Given the description of an element on the screen output the (x, y) to click on. 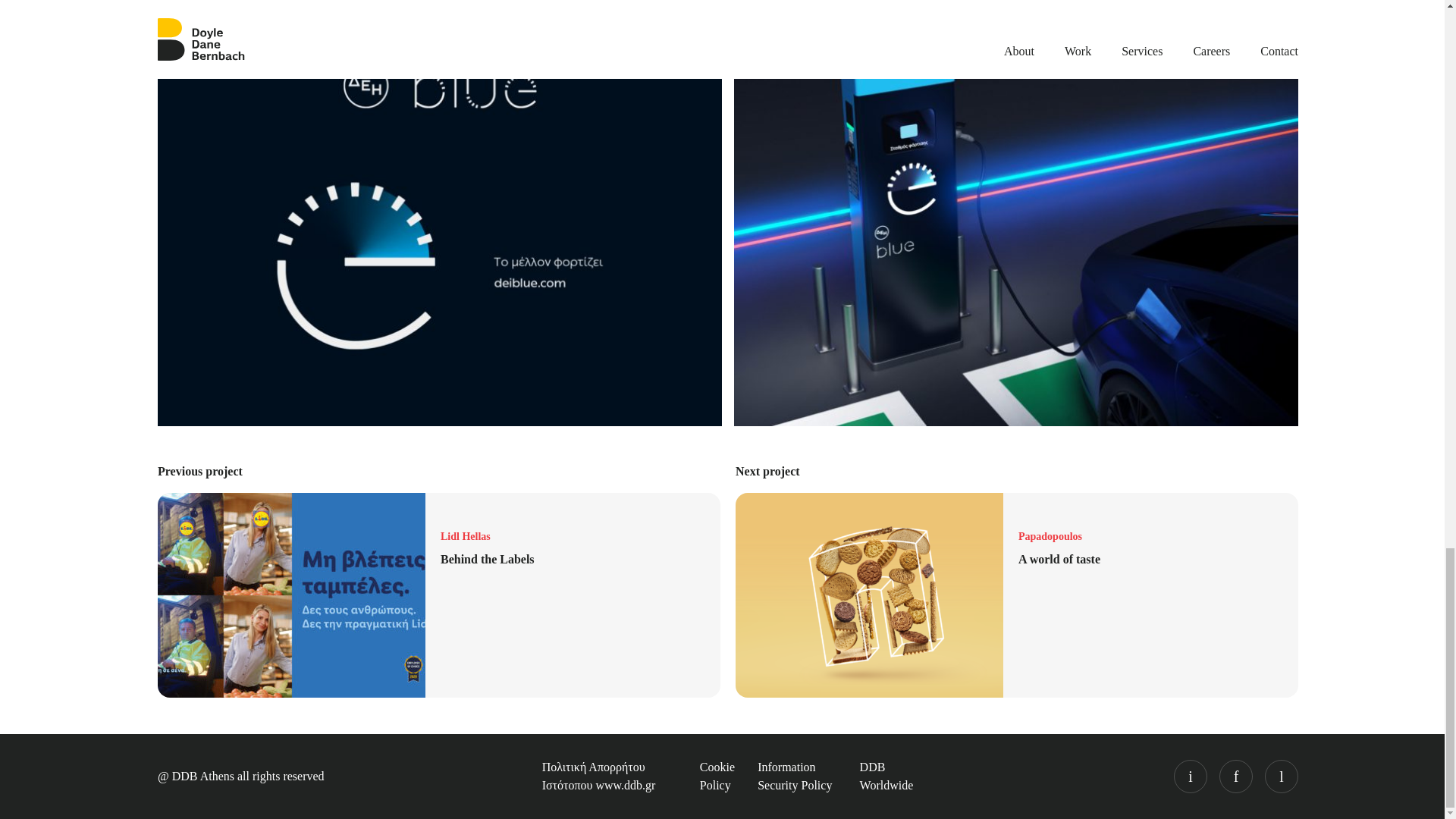
f (1236, 776)
DDB Worldwide (438, 595)
i (887, 775)
Cookie Policy (1190, 776)
Information Security Policy (717, 775)
l (794, 775)
